Given the description of an element on the screen output the (x, y) to click on. 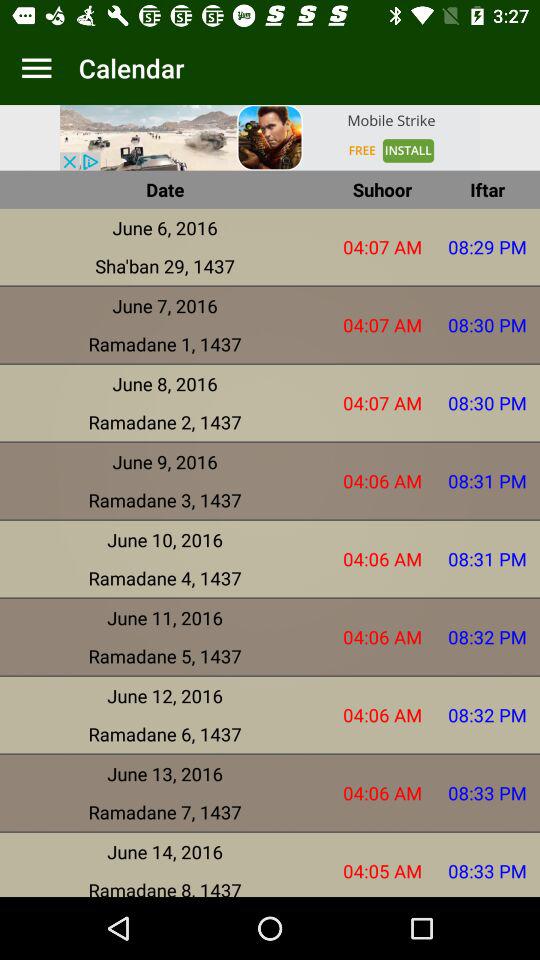
advertisement (270, 137)
